Given the description of an element on the screen output the (x, y) to click on. 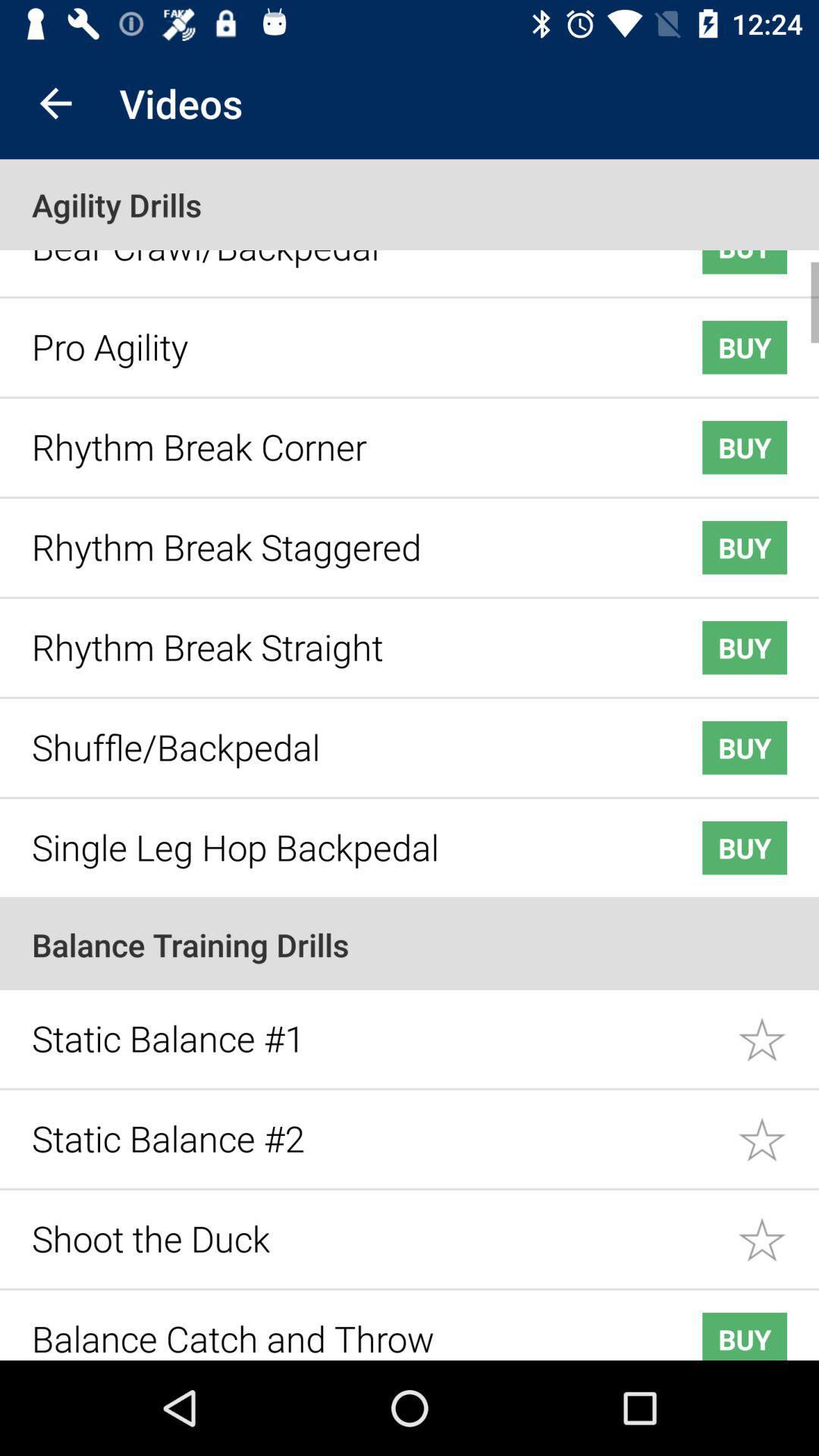
tap the icon next to buy icon (342, 254)
